Given the description of an element on the screen output the (x, y) to click on. 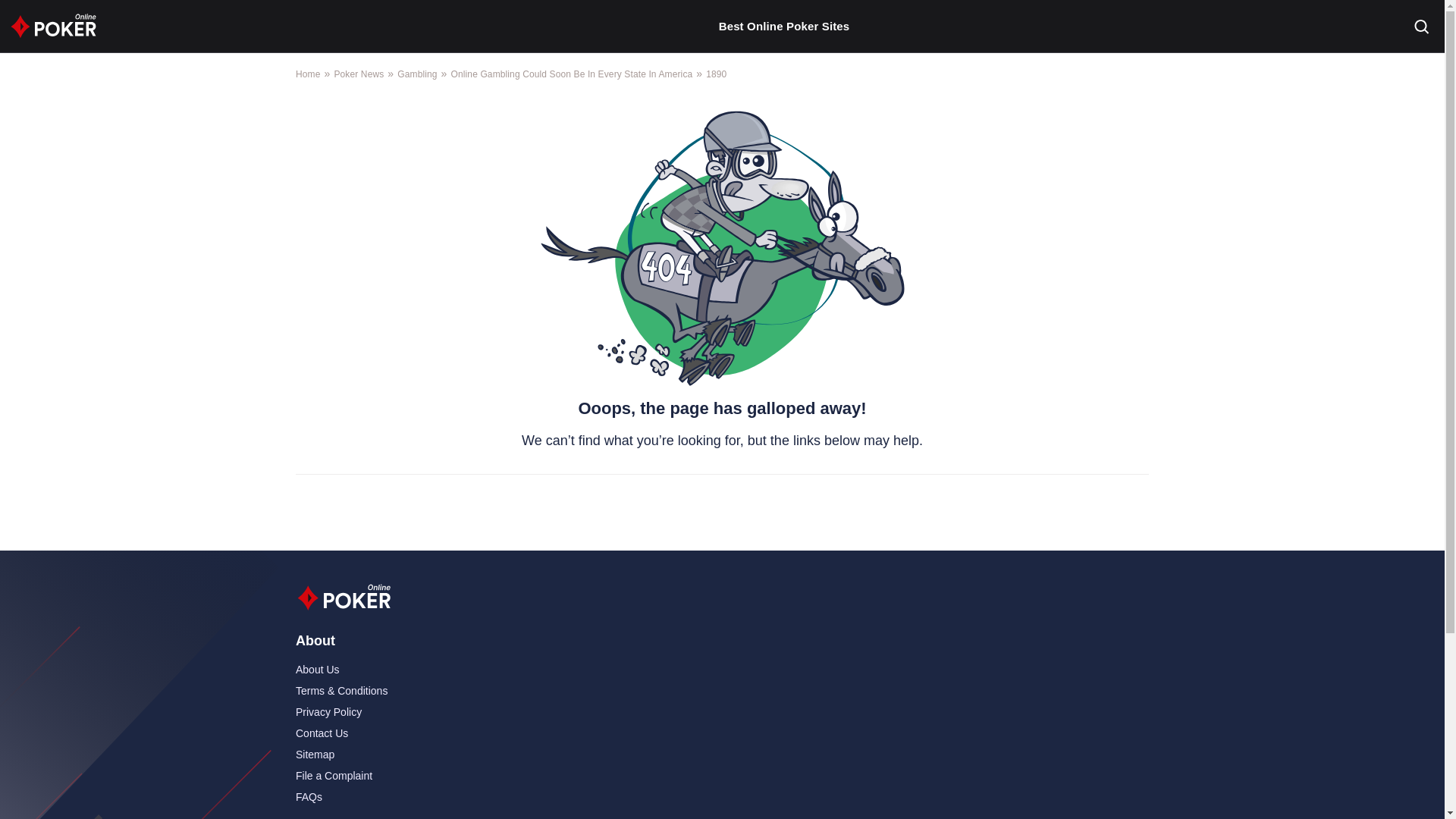
About Us (317, 670)
Gambling (416, 73)
Contact Us (321, 734)
FAQs (308, 797)
Home (307, 73)
Best Online Poker Sites (784, 26)
Privacy Policy (328, 712)
Sitemap (314, 755)
Poker News (358, 73)
Online Gambling Could Soon Be In Every State In America (572, 73)
